Given the description of an element on the screen output the (x, y) to click on. 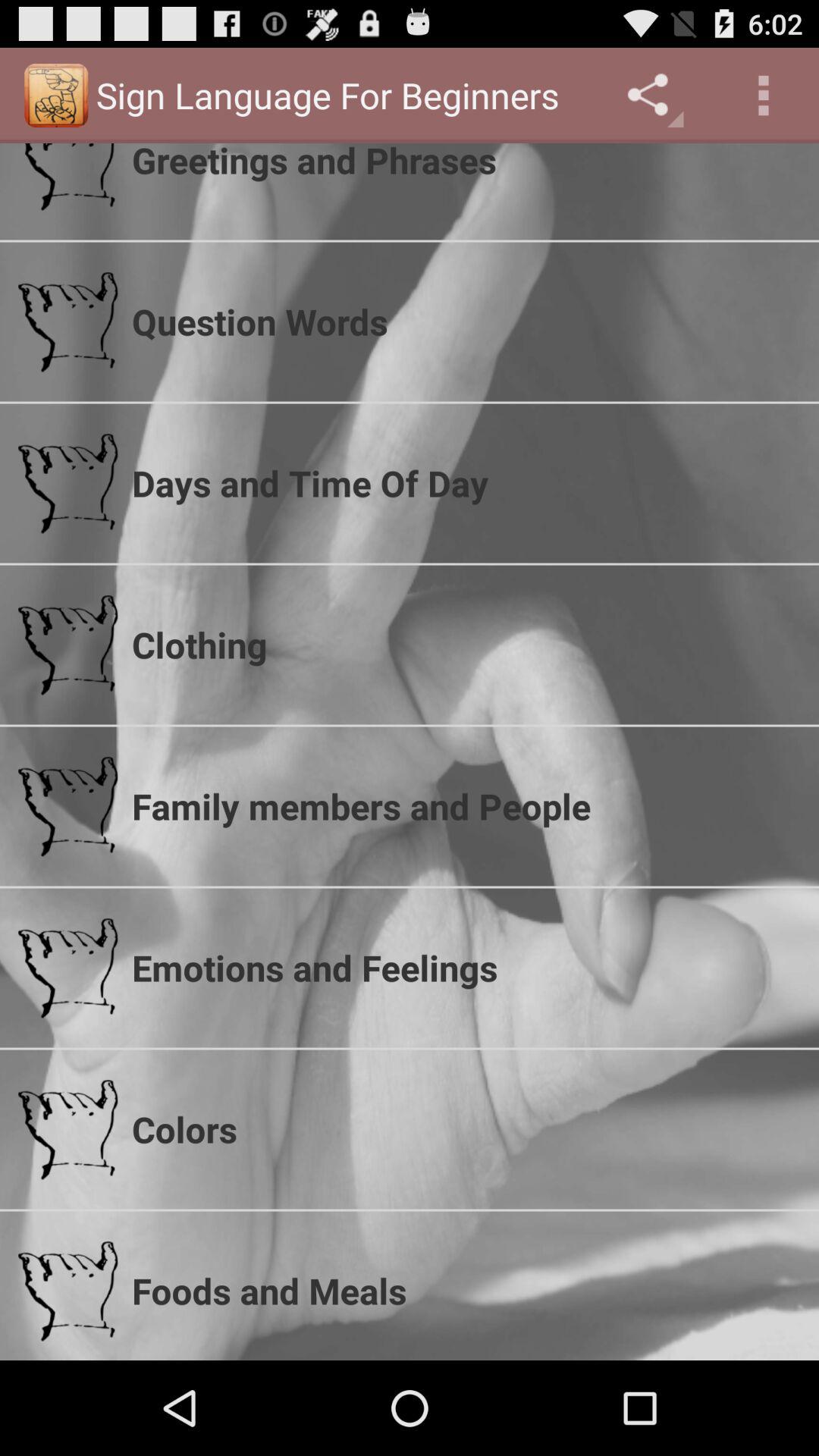
choose app above colors item (465, 967)
